Given the description of an element on the screen output the (x, y) to click on. 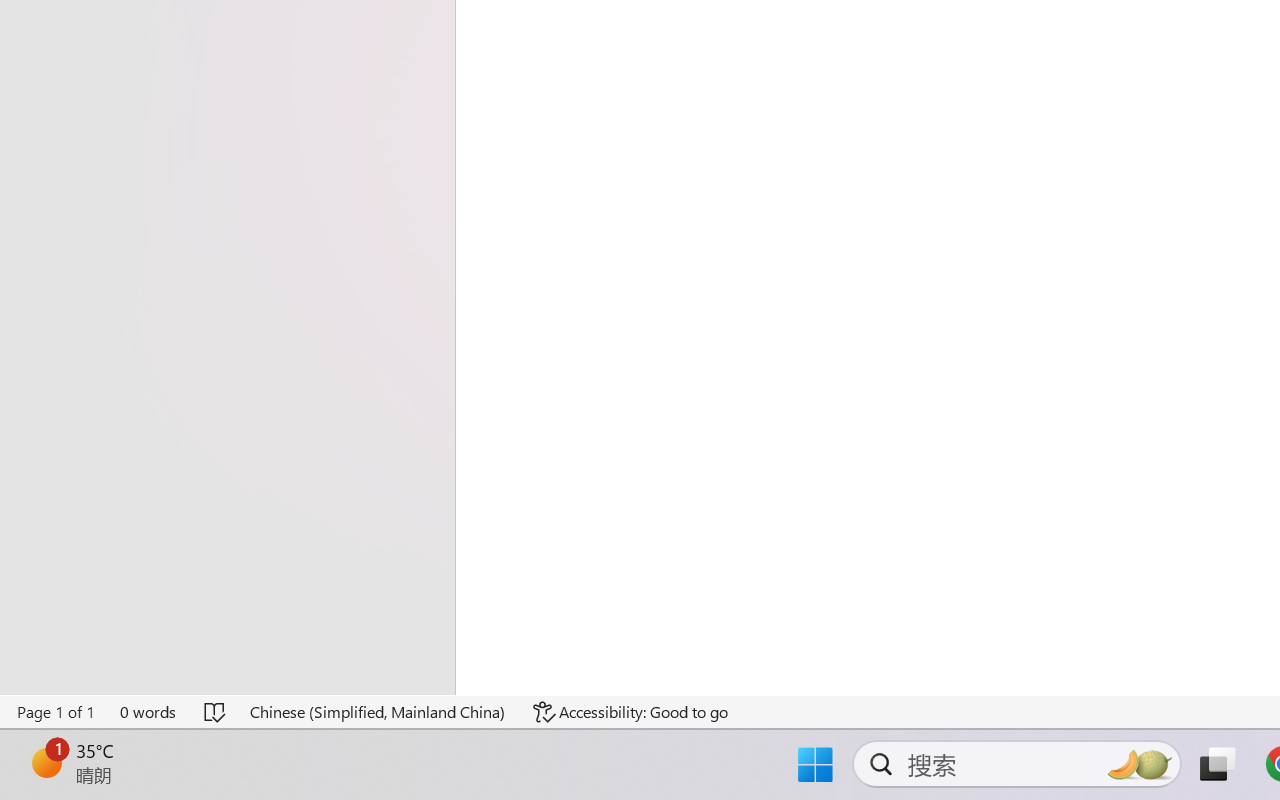
Language Chinese (Simplified, Mainland China) (378, 712)
